Given the description of an element on the screen output the (x, y) to click on. 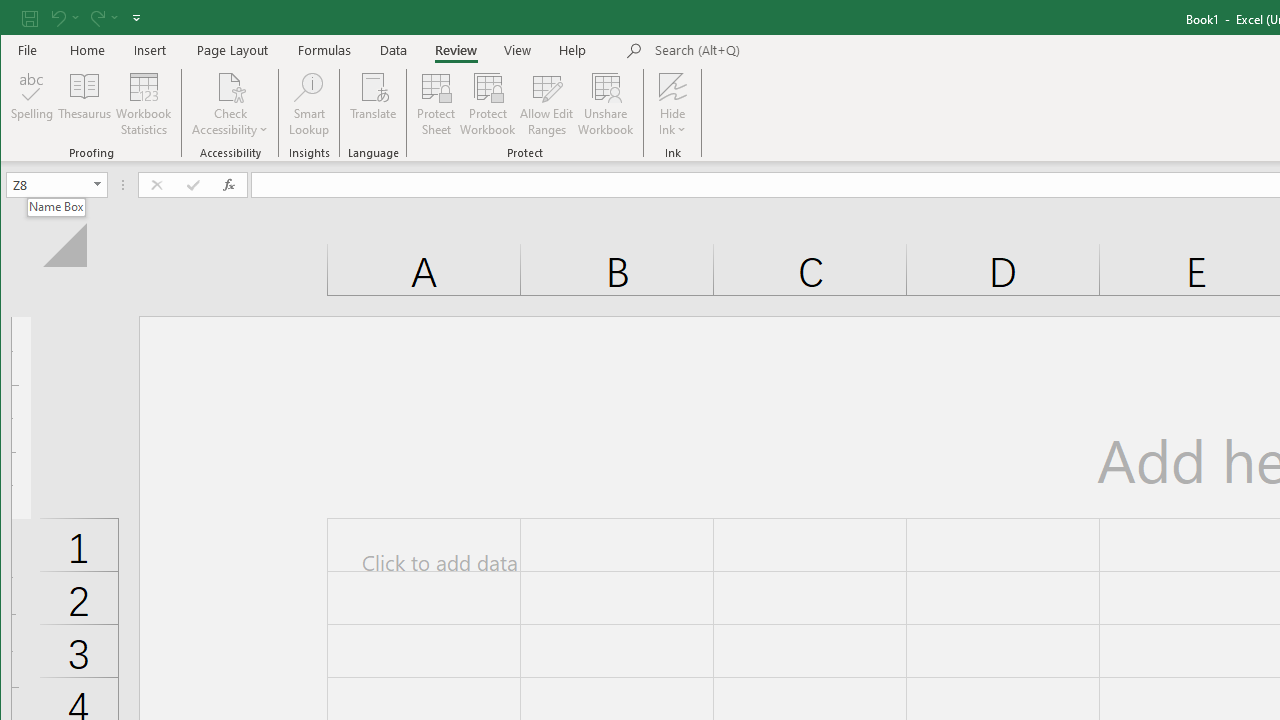
Hide Ink (672, 104)
Protect Sheet... (436, 104)
Check Accessibility (230, 86)
Check Accessibility (230, 104)
Unshare Workbook (606, 104)
